Given the description of an element on the screen output the (x, y) to click on. 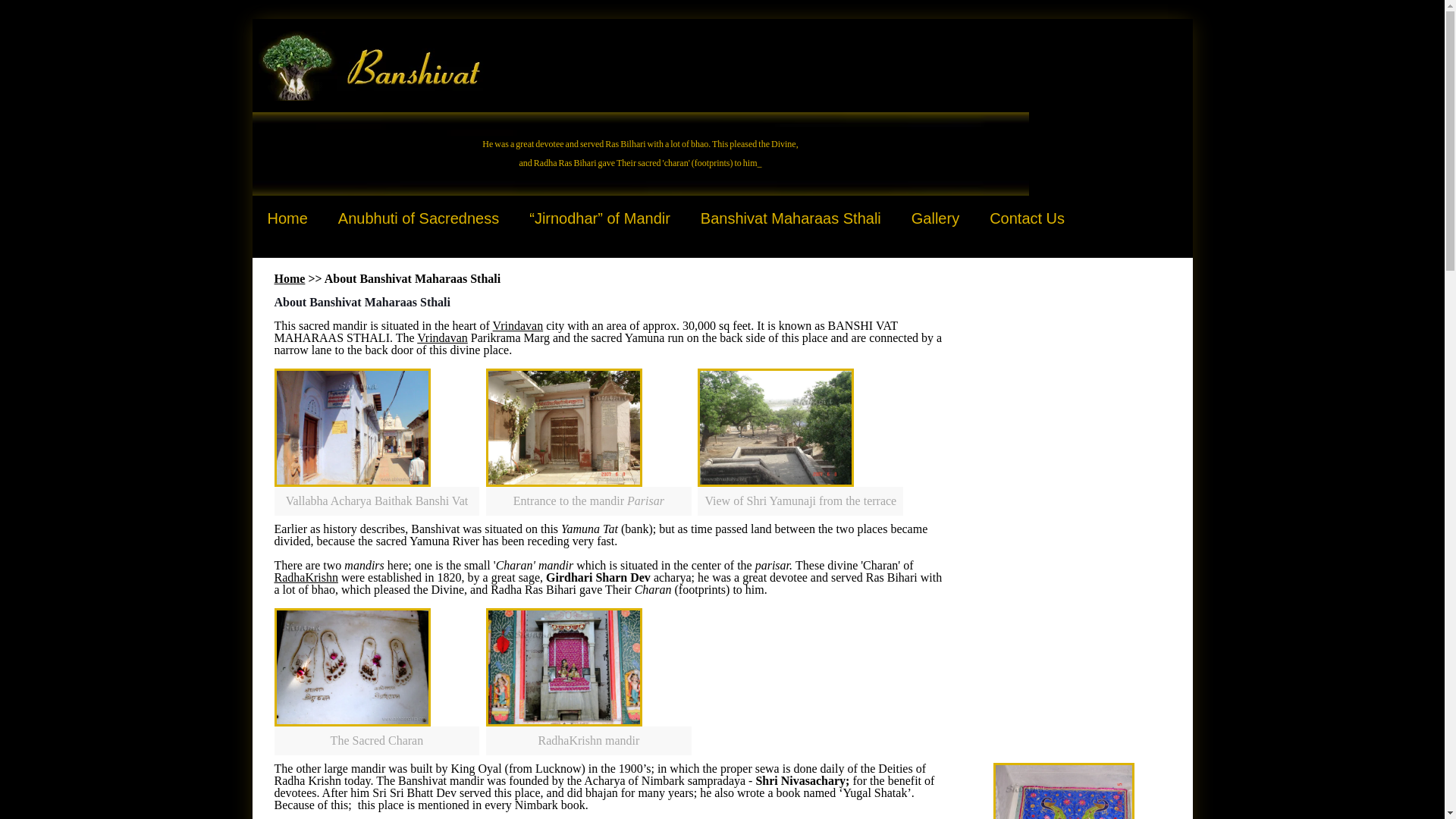
Banshivat Maharaas Sthali (368, 65)
Contact Us (1027, 217)
Home (286, 217)
Home (290, 278)
Vrindavan (441, 337)
Vrindavan (518, 325)
Banshivat Maharaas Sthali (790, 217)
Anubhuti of Sacredness (418, 217)
RadhaKrishn (306, 576)
Gallery (935, 217)
